Given the description of an element on the screen output the (x, y) to click on. 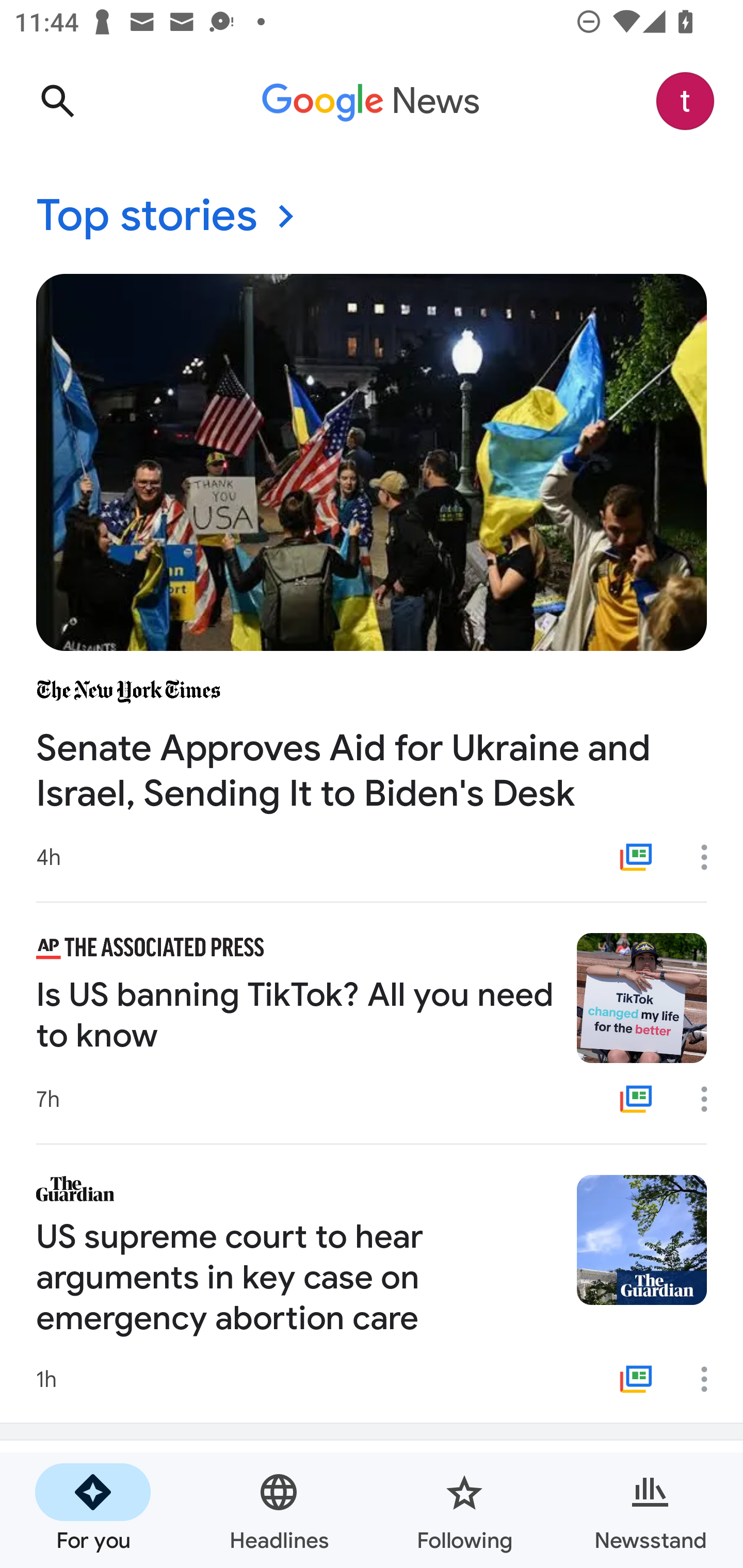
Search (57, 100)
Top stories (371, 216)
More options (711, 856)
More options (711, 1099)
More options (711, 1378)
For you (92, 1509)
Headlines (278, 1509)
Following (464, 1509)
Newsstand (650, 1509)
